Given the description of an element on the screen output the (x, y) to click on. 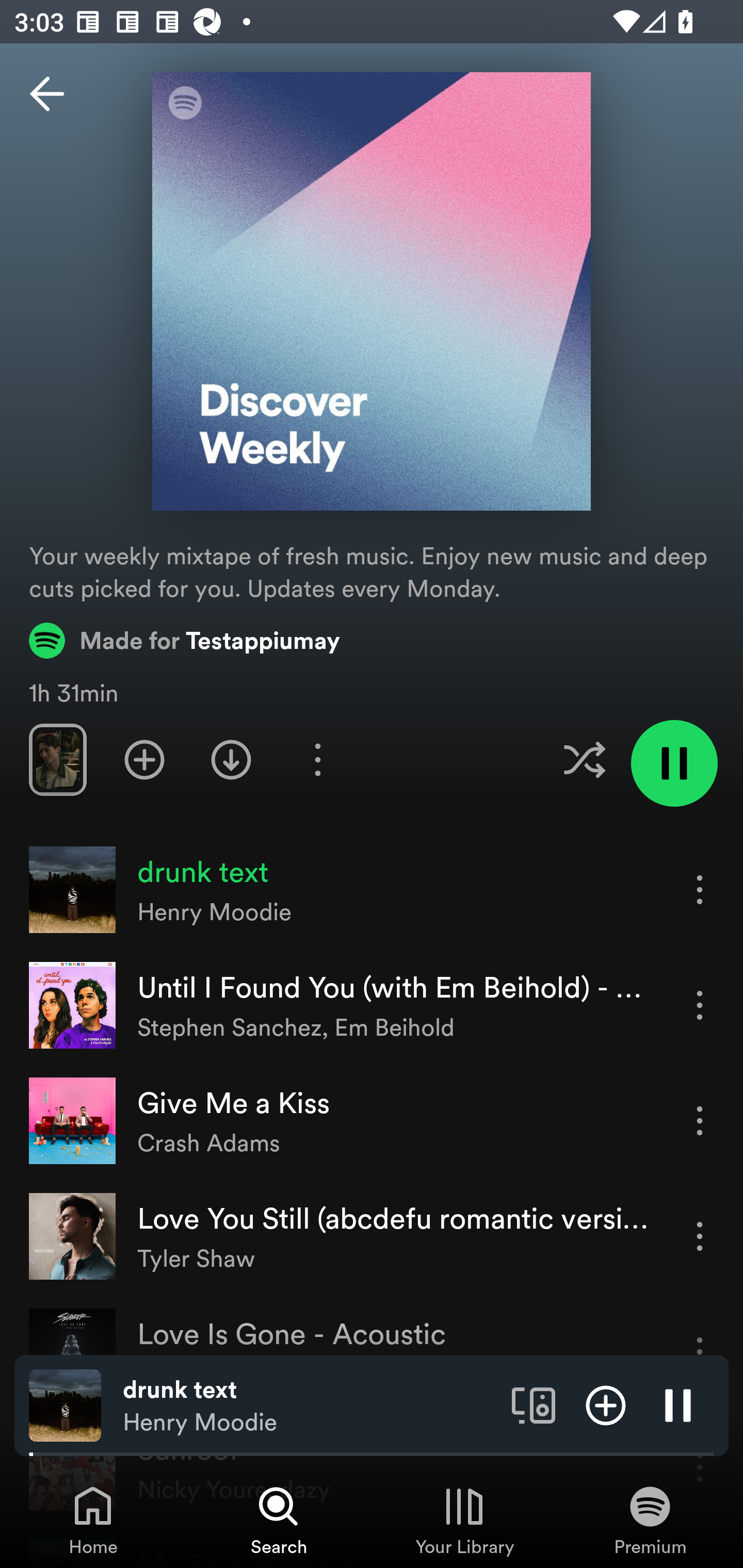
Back (46, 93)
Made for Testappiumay (184, 640)
Swipe through previews of tracks in this playlist. (57, 759)
Add playlist to Your Library (144, 759)
Download (230, 759)
More options for playlist Discover Weekly (317, 759)
Enable shuffle for this playlist (583, 759)
Pause playlist (674, 763)
More options for song drunk text (699, 889)
More options for song Give Me a Kiss (699, 1120)
drunk text Henry Moodie (309, 1405)
The cover art of the currently playing track (64, 1404)
